Given the description of an element on the screen output the (x, y) to click on. 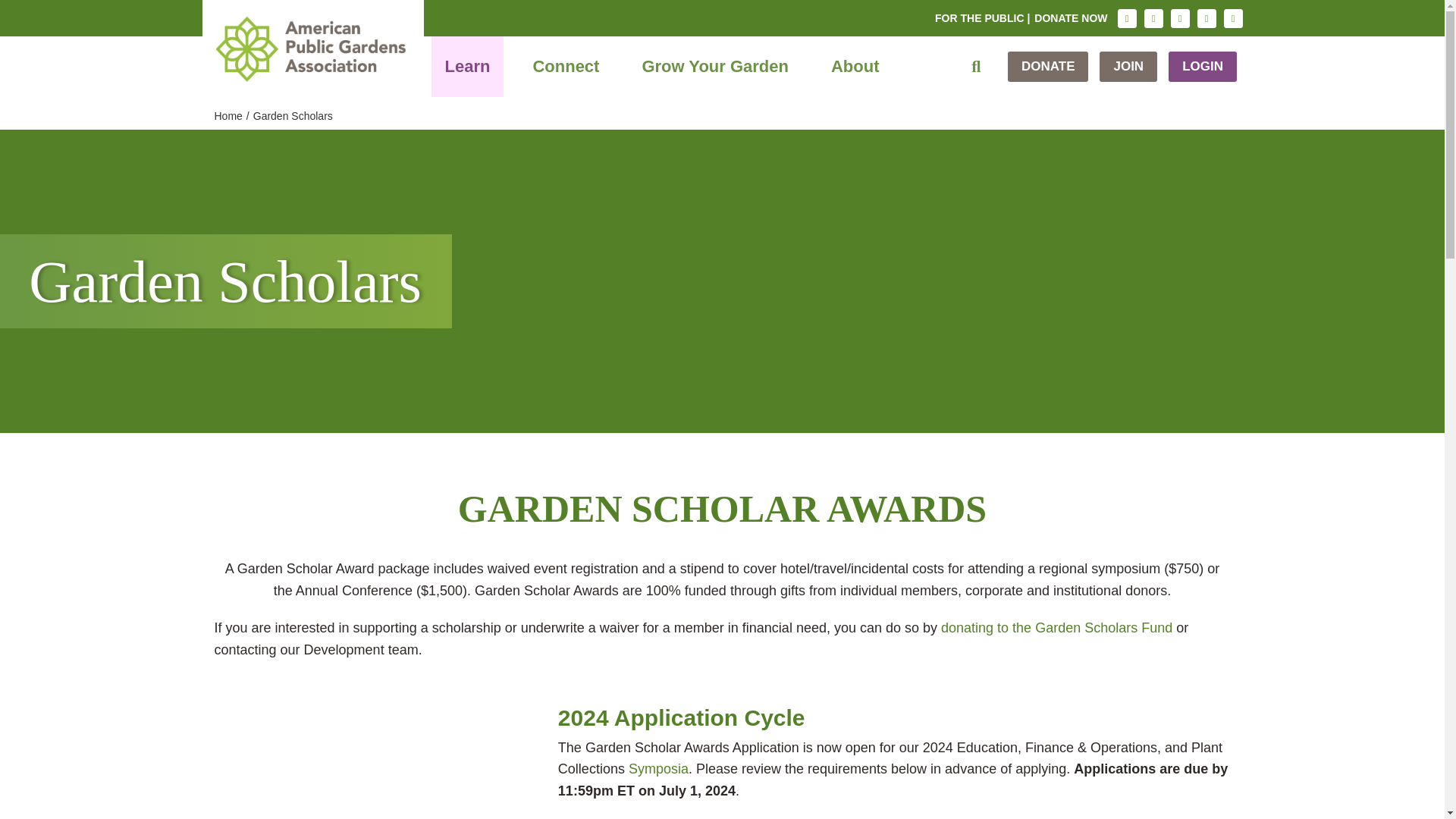
Grow Your Garden (714, 66)
DONATE NOW (1070, 18)
YOUTUBE (1233, 18)
Twitter (1179, 18)
Instagram (1127, 18)
Instagram (1127, 18)
Facebook (1151, 18)
YouTube (1233, 18)
LinkedIn (1205, 18)
Twitter (1179, 18)
